Given the description of an element on the screen output the (x, y) to click on. 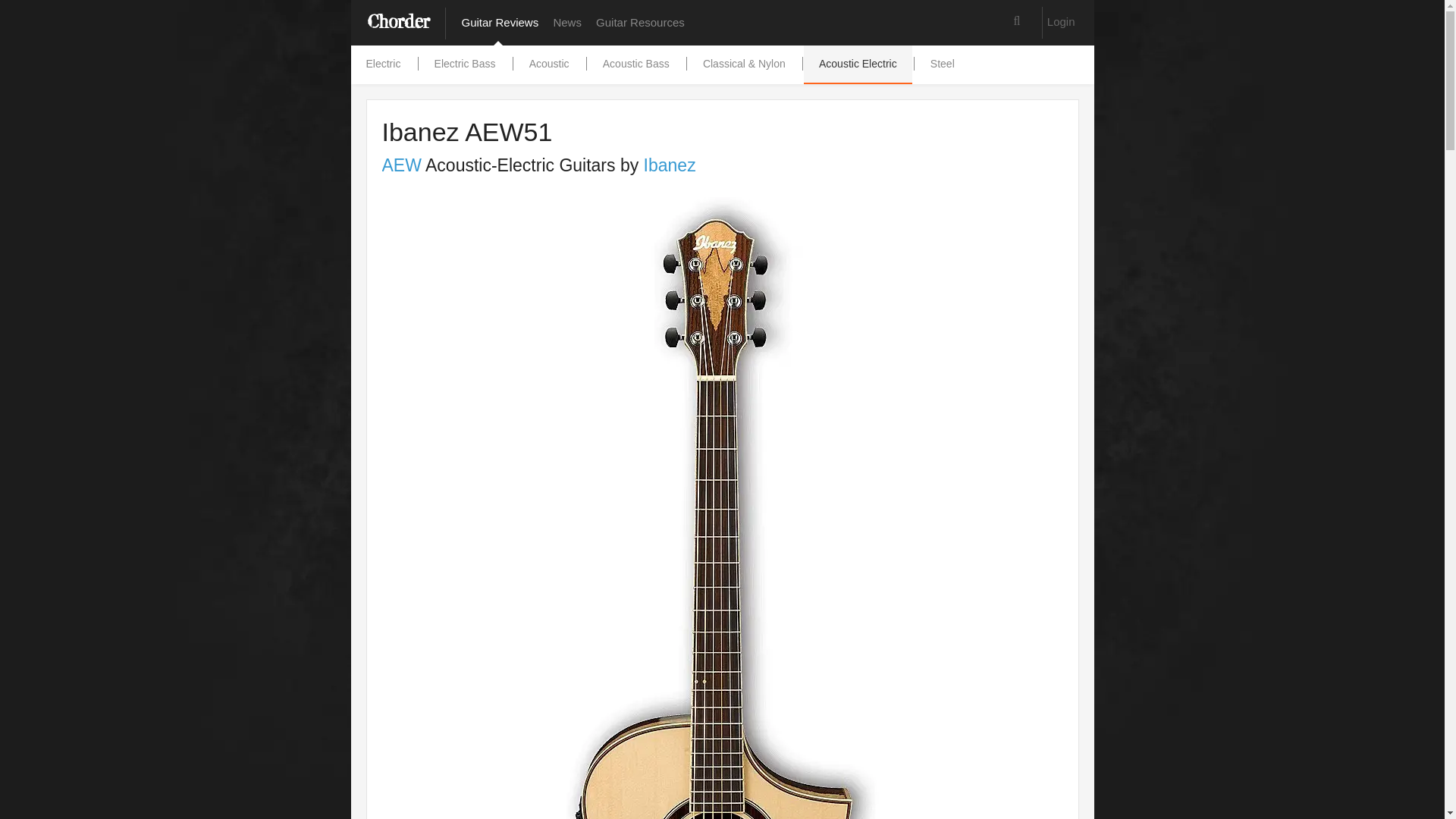
Login (1060, 21)
Electric Bass (465, 63)
Acoustic Bass (636, 63)
Acoustic Electric (857, 63)
Electric (382, 63)
Steel (942, 63)
Acoustic (549, 63)
News (567, 22)
Guitar Resources (640, 22)
Ibanez (669, 164)
AEW (401, 164)
Guitar Reviews (501, 22)
